Given the description of an element on the screen output the (x, y) to click on. 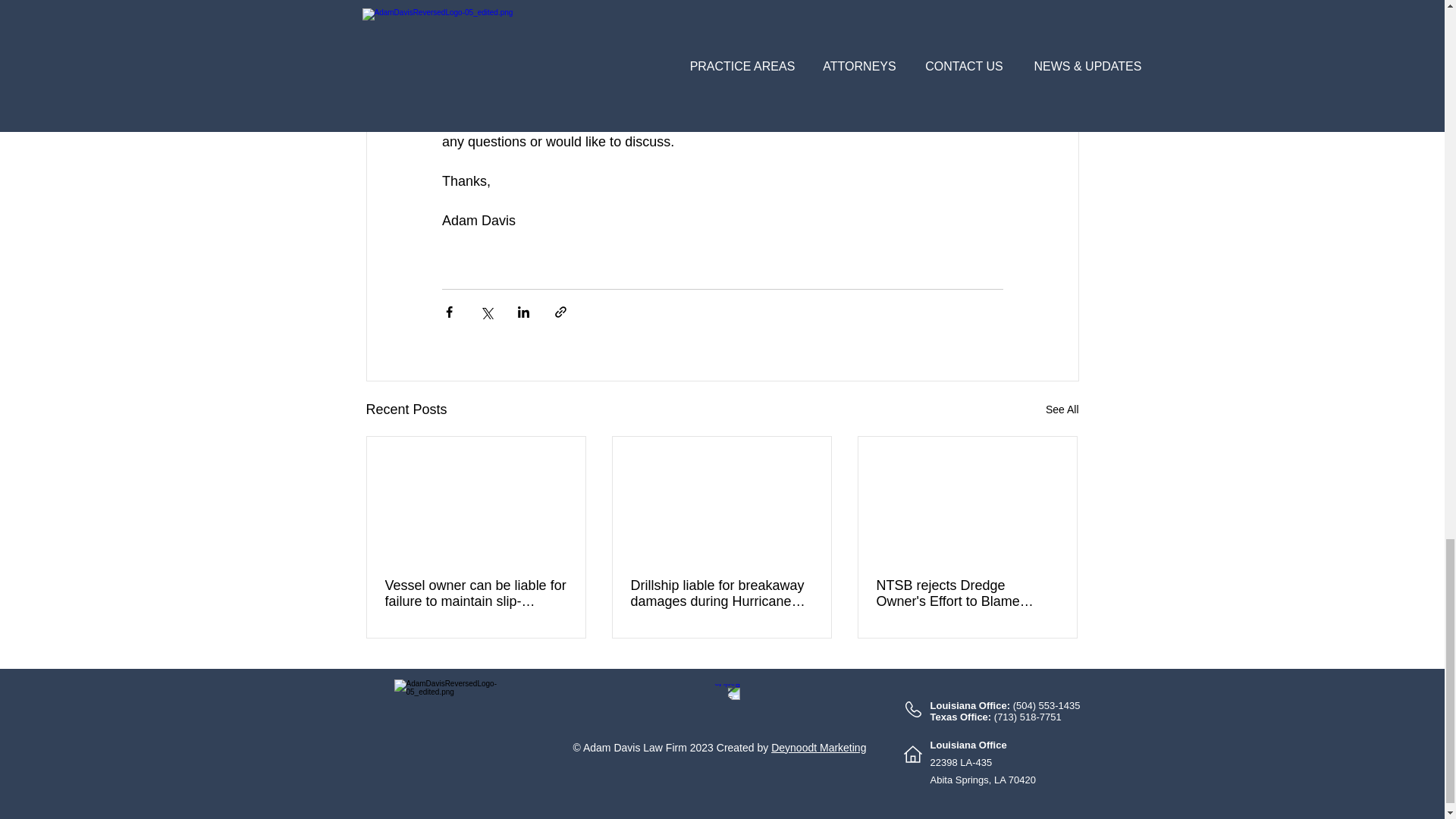
See All (1061, 409)
Deynoodt Marketing (818, 747)
